Given the description of an element on the screen output the (x, y) to click on. 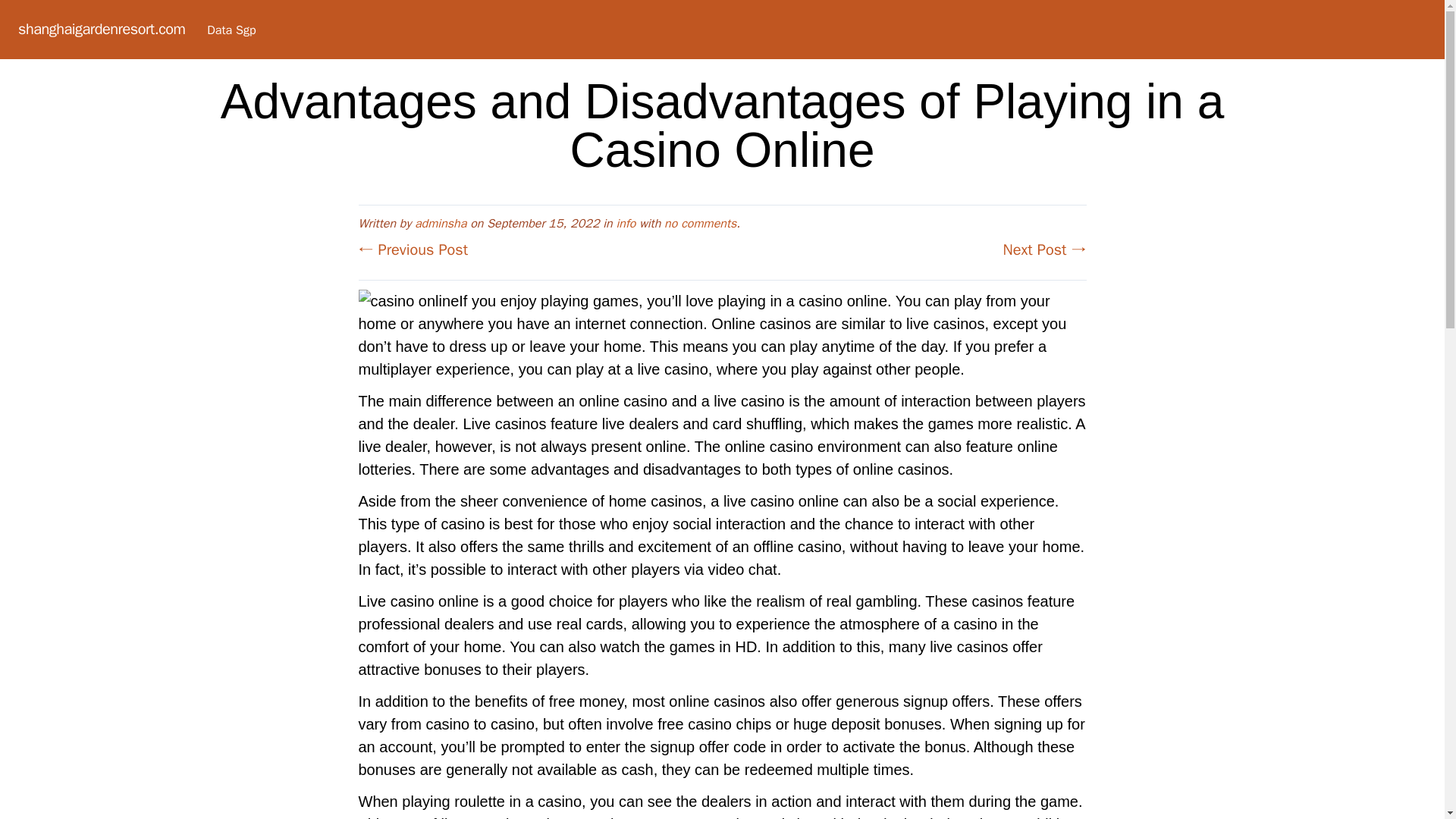
shanghaigardenresort.com (100, 29)
info (625, 223)
Data Sgp (231, 30)
no comments (699, 223)
no comments (699, 223)
adminsha (439, 223)
